Given the description of an element on the screen output the (x, y) to click on. 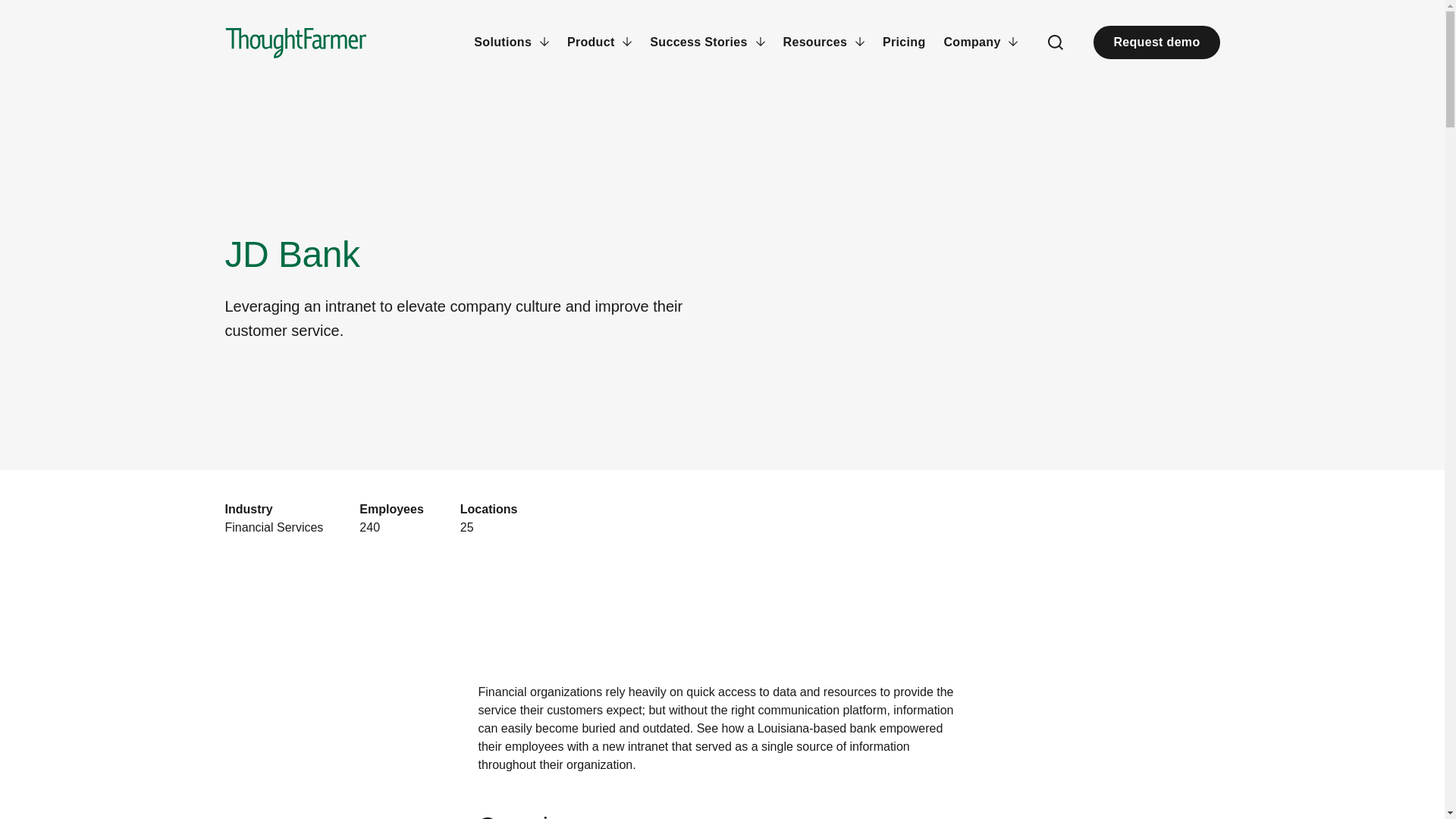
Resources (823, 42)
Success Stories (706, 42)
Product (599, 42)
Return to Home (295, 42)
Solutions (511, 42)
